Given the description of an element on the screen output the (x, y) to click on. 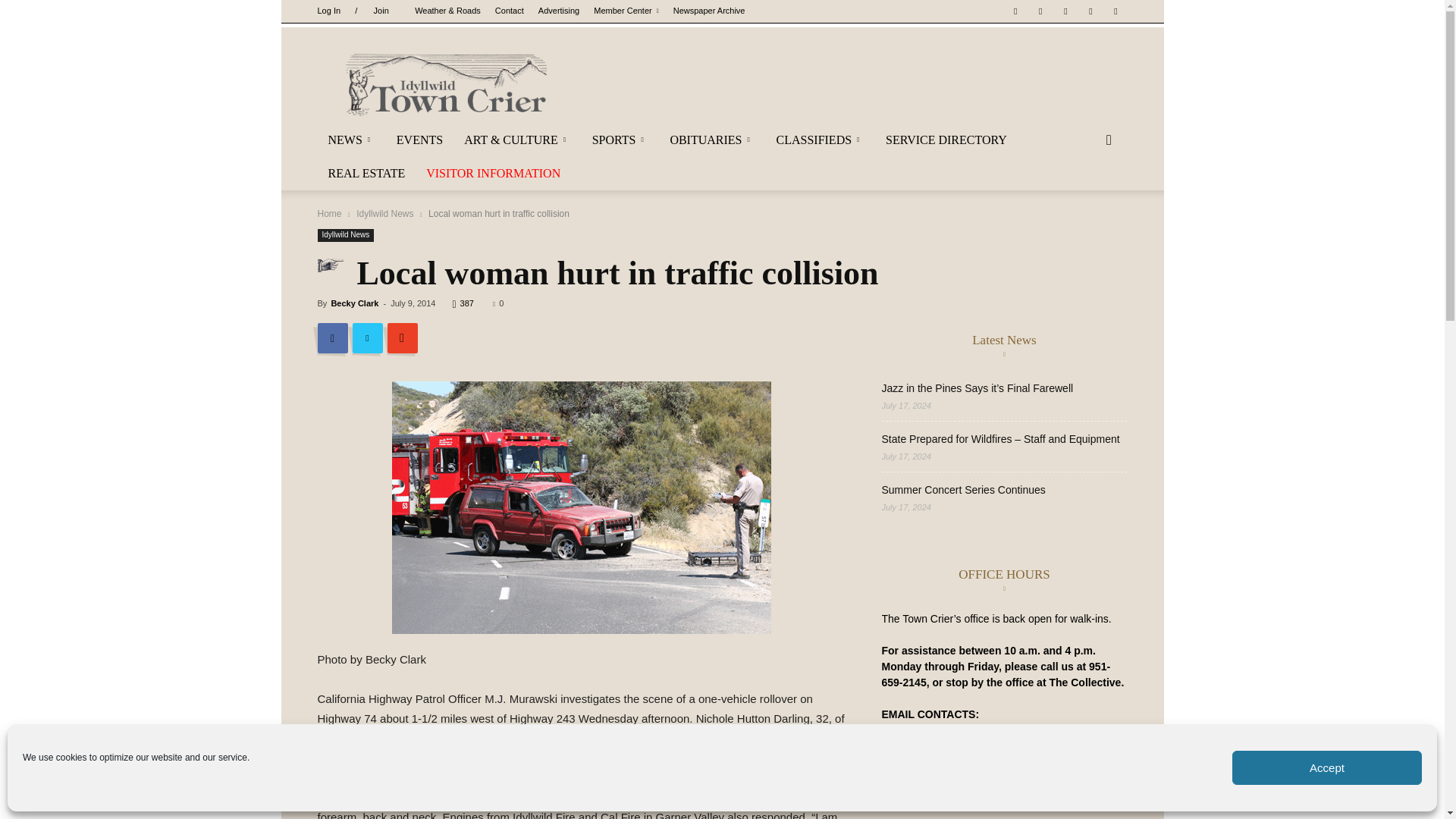
Facebook (1015, 10)
Accept (1326, 767)
Twitter (1090, 10)
Linkedin (1065, 10)
Youtube (1114, 10)
